Given the description of an element on the screen output the (x, y) to click on. 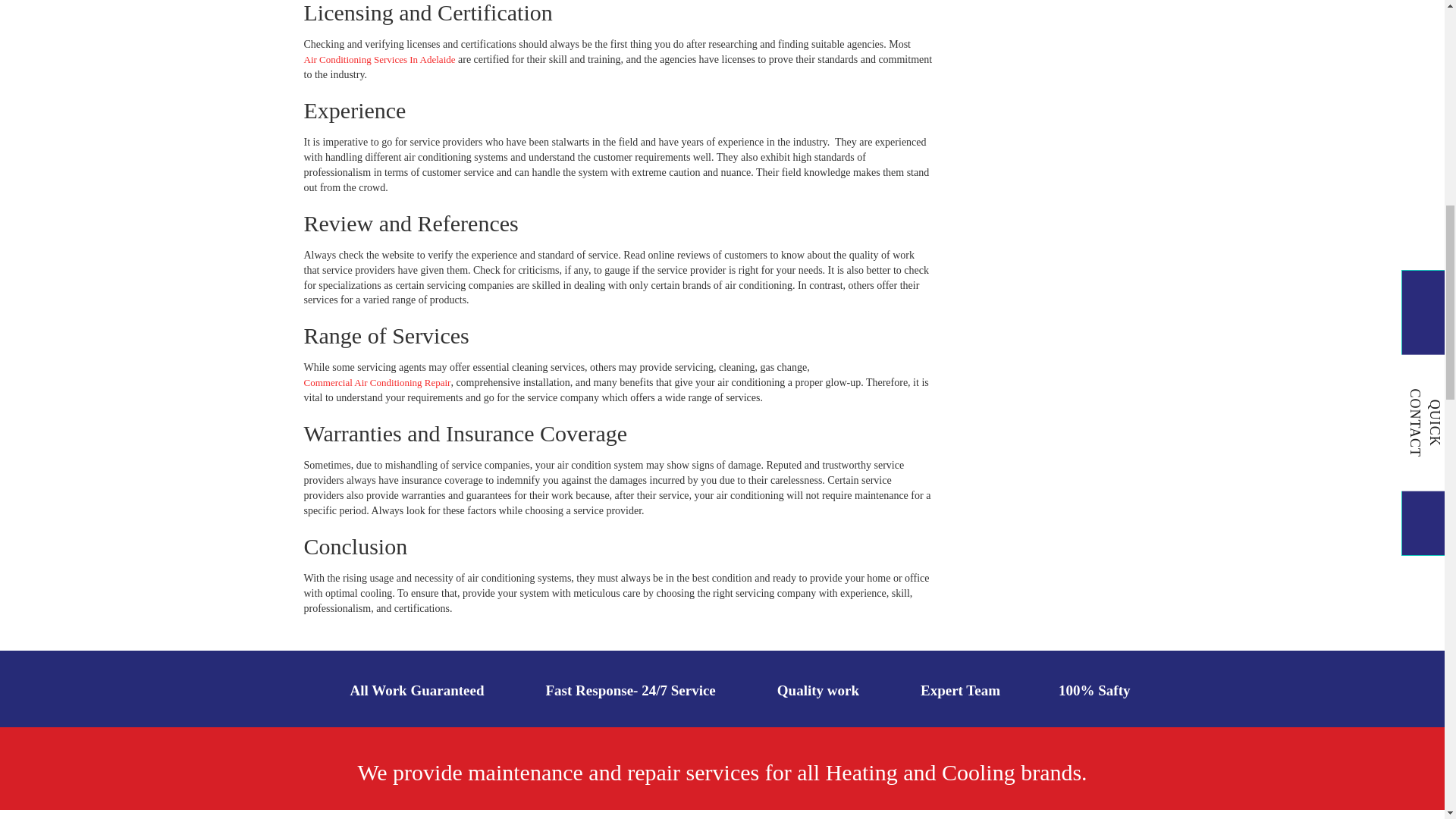
Commercial Air Conditioning Repair (375, 382)
Air Conditioning Services In Adelaide (378, 60)
